Given the description of an element on the screen output the (x, y) to click on. 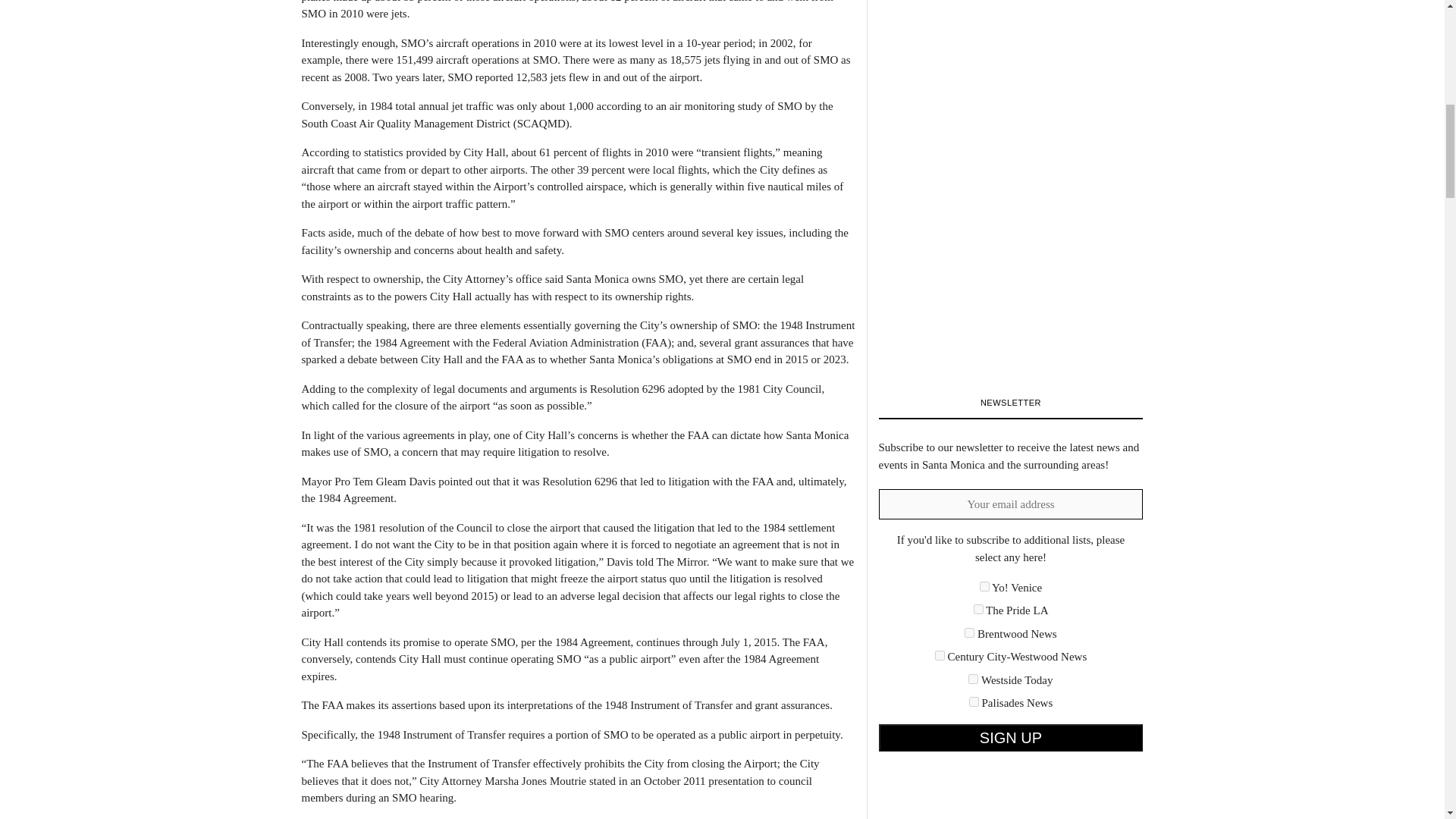
2c616d28b5 (984, 586)
33f79e7e4d (979, 609)
5fac618226 (939, 655)
ec7d882848 (973, 701)
a3d1b6d535 (973, 678)
382281a661 (968, 633)
Sign up (1009, 737)
